Given the description of an element on the screen output the (x, y) to click on. 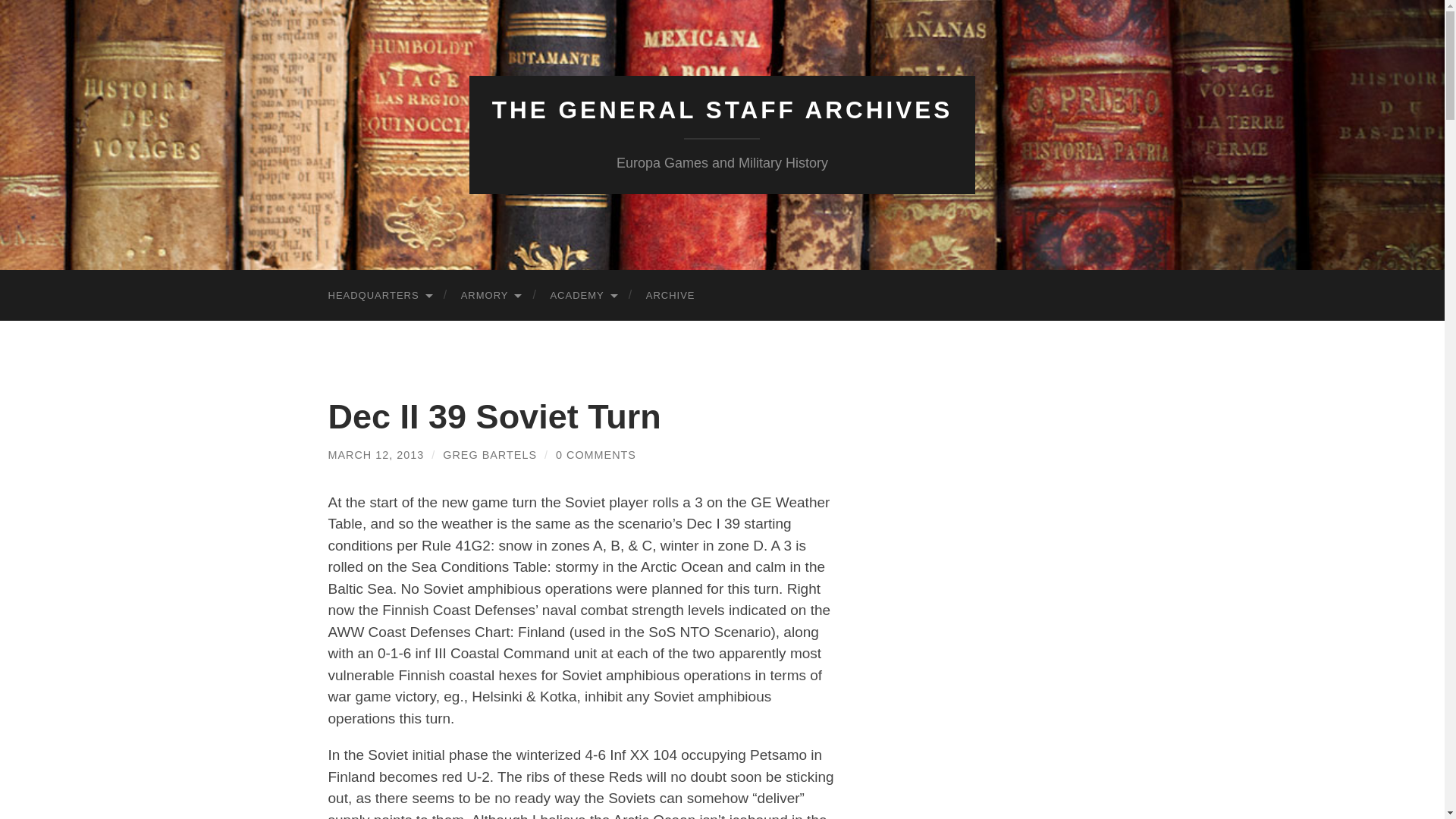
ARMORY (490, 295)
HEADQUARTERS (379, 295)
THE GENERAL STAFF ARCHIVES (722, 109)
Posts by Greg Bartels (489, 454)
